Given the description of an element on the screen output the (x, y) to click on. 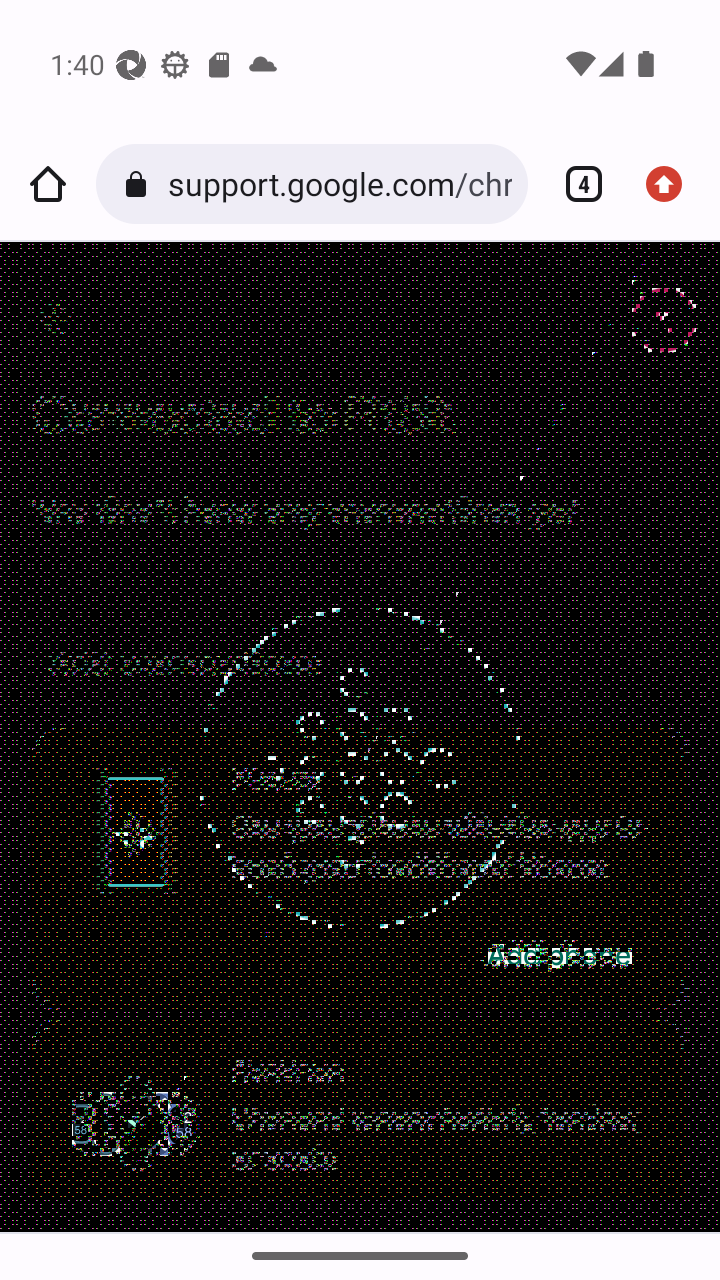
Home (47, 184)
Connection is secure (139, 184)
Switch or close tabs (575, 184)
Update available. More options (672, 184)
